Given the description of an element on the screen output the (x, y) to click on. 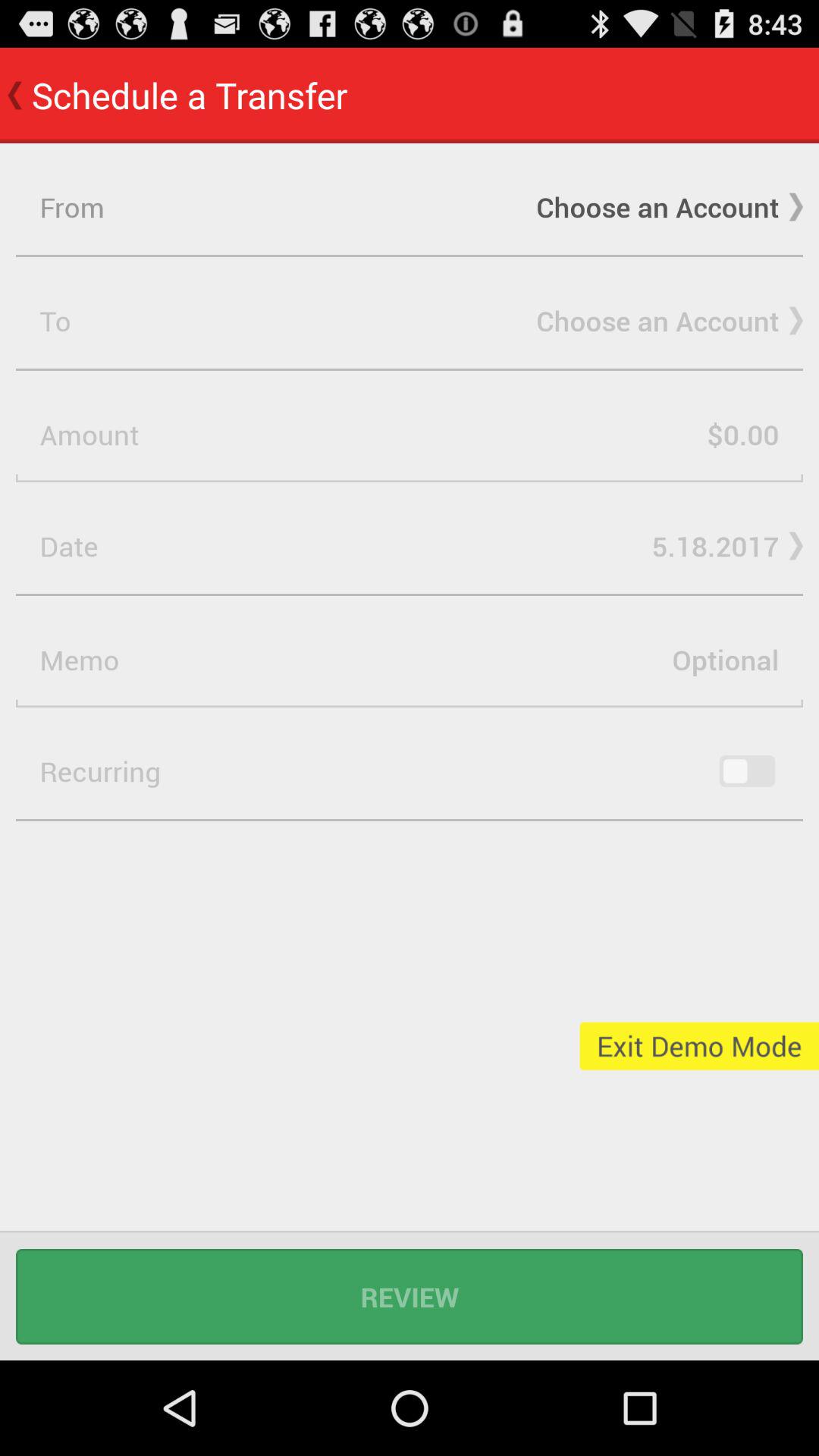
select key (747, 771)
